Given the description of an element on the screen output the (x, y) to click on. 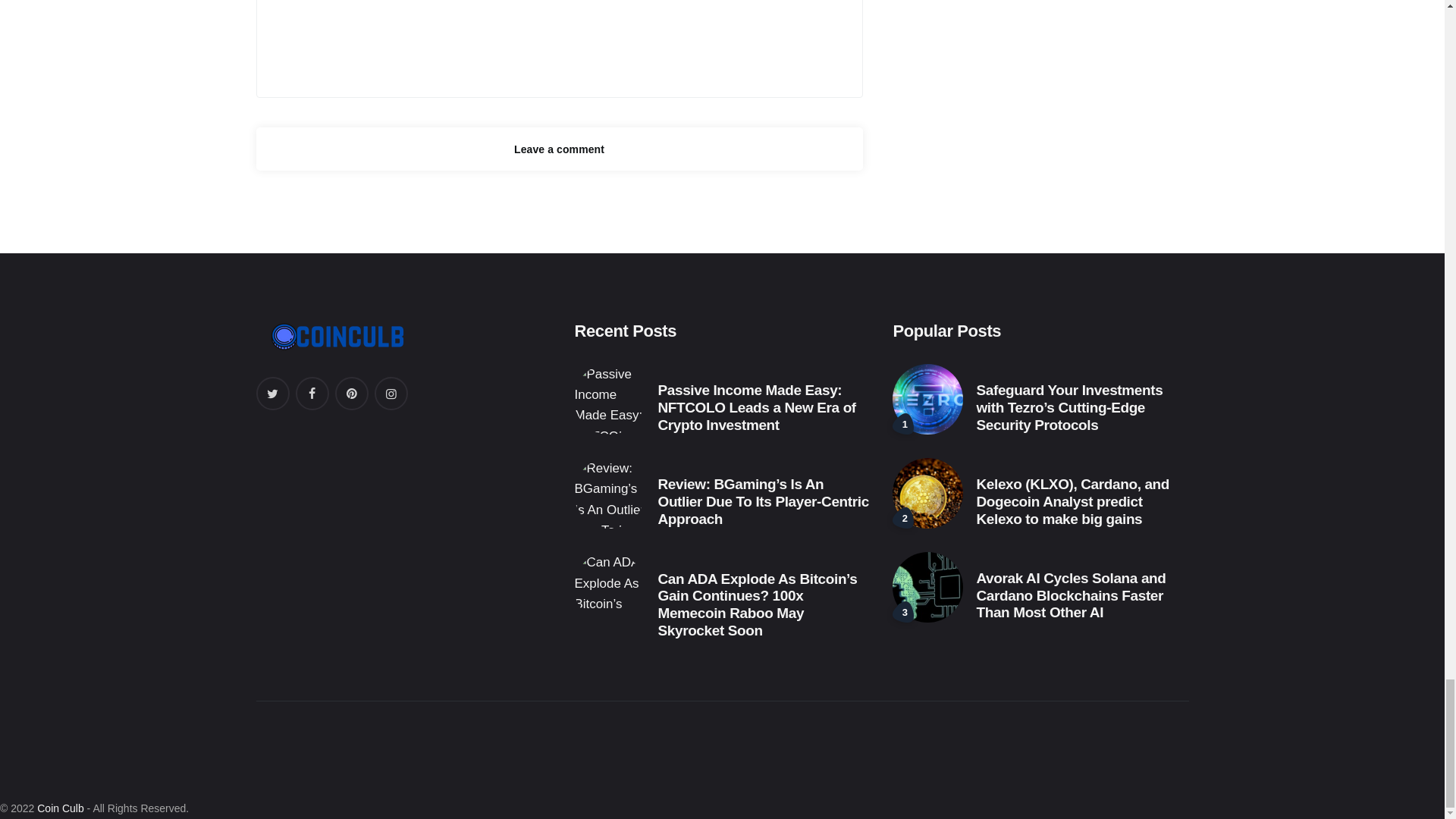
Leave a comment (559, 148)
